Given the description of an element on the screen output the (x, y) to click on. 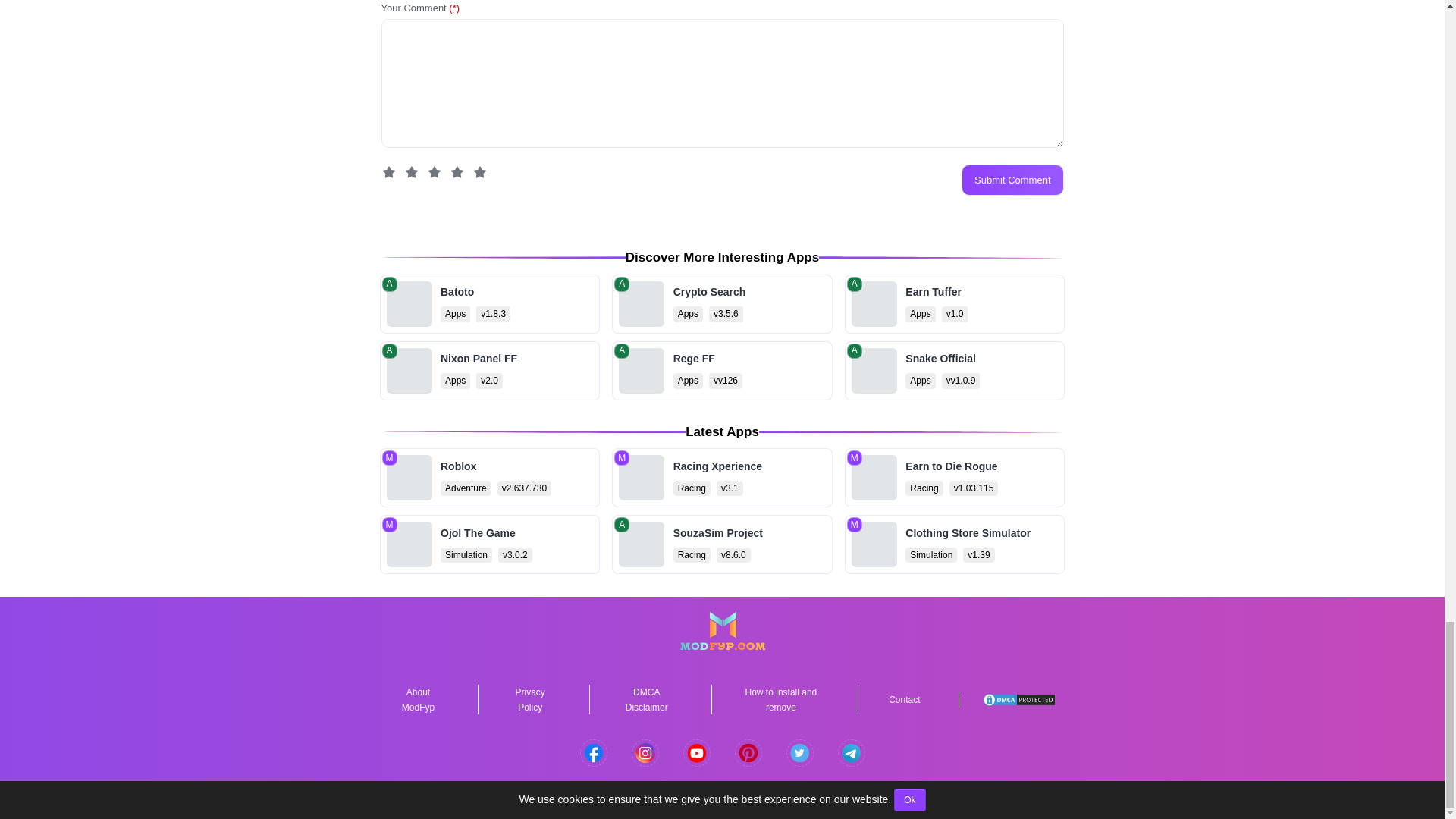
Rege FF (721, 370)
Submit Comment (488, 303)
Ojol The Game (1011, 179)
Earn Tuffer (721, 303)
Nixon Panel FF (488, 544)
Crypto Search (954, 303)
Batoto (488, 370)
Racing Xperience (721, 303)
